Given the description of an element on the screen output the (x, y) to click on. 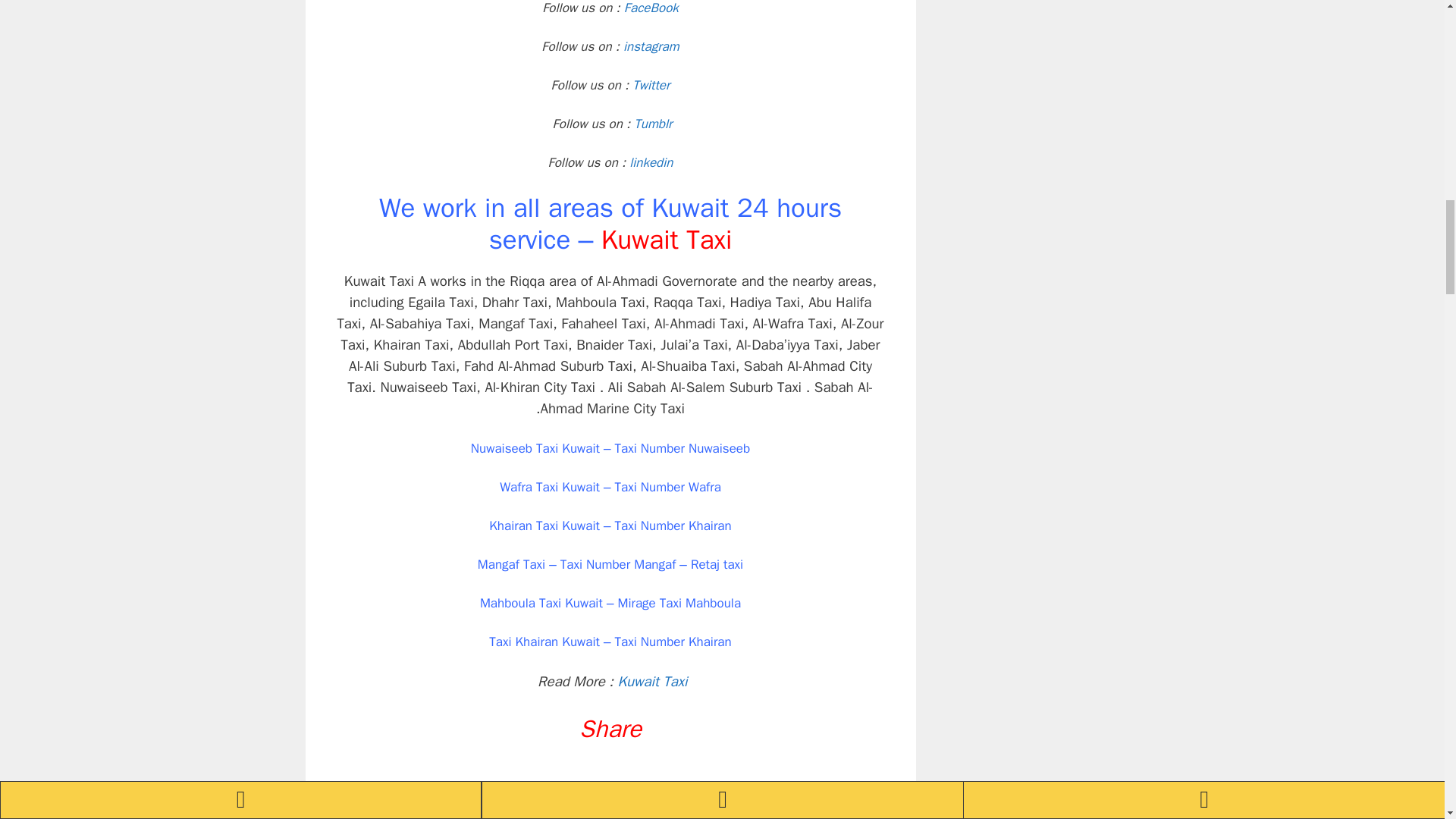
TaxiCab Kuwait (832, 796)
instagram (651, 46)
kuwait Taxi (539, 812)
Kuwait Taxi (666, 239)
FaceBook (651, 7)
Tumblr  (609, 123)
Kio Taxi (486, 812)
linkedin (650, 162)
Twitter (650, 84)
Khairan Taxi Kuwait (414, 812)
Kuwait Taxi  (609, 681)
